Given the description of an element on the screen output the (x, y) to click on. 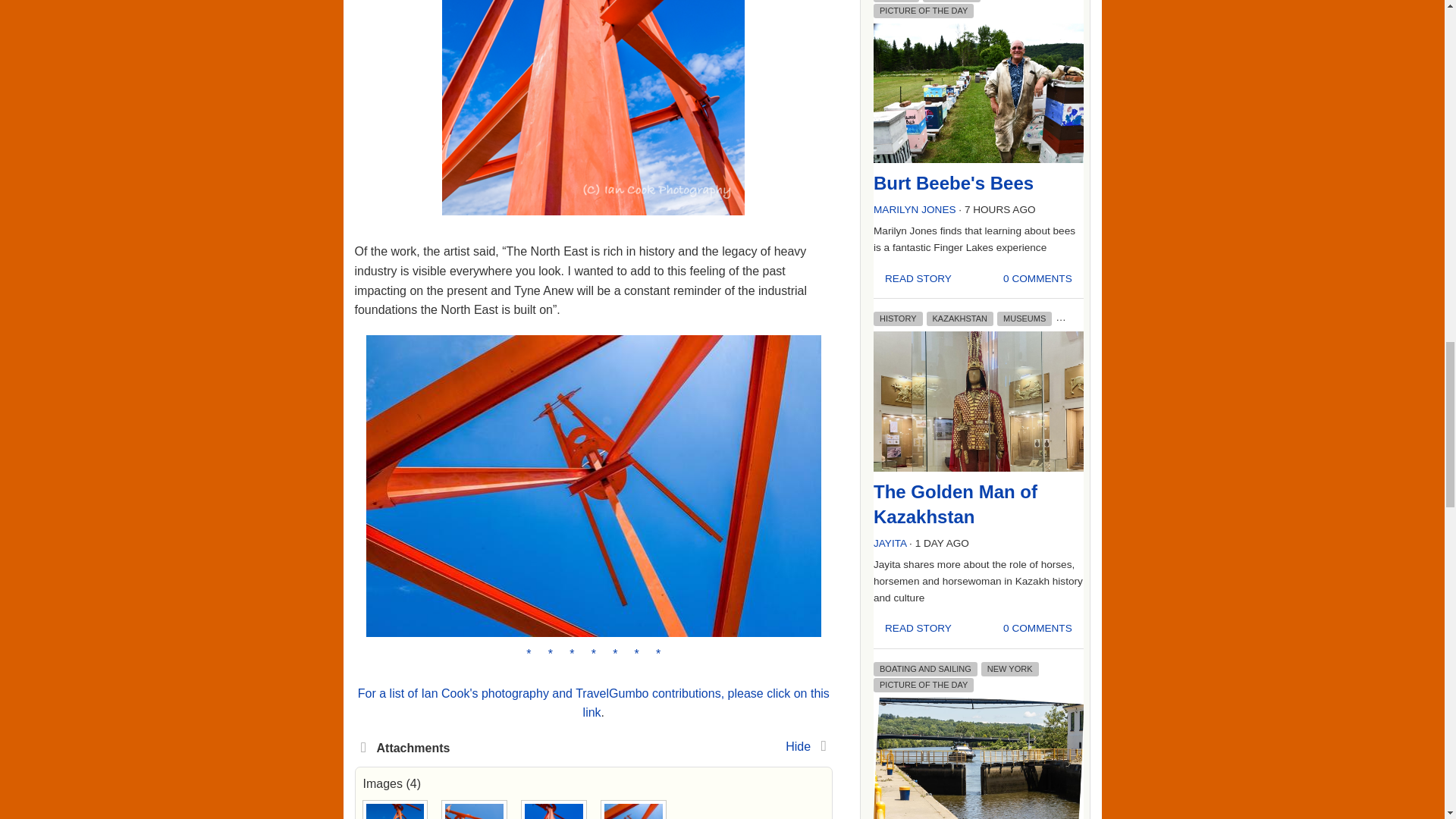
image3 (593, 119)
Tyne Anew, Royal Quays Marina (553, 809)
Tyne Anew, Royal Quays Marina (394, 809)
Tyne Anew, Royal Quays Marina (633, 809)
image3 (593, 107)
Tyne Anew, Royal Quays Marina (474, 809)
image4 (593, 590)
